Given the description of an element on the screen output the (x, y) to click on. 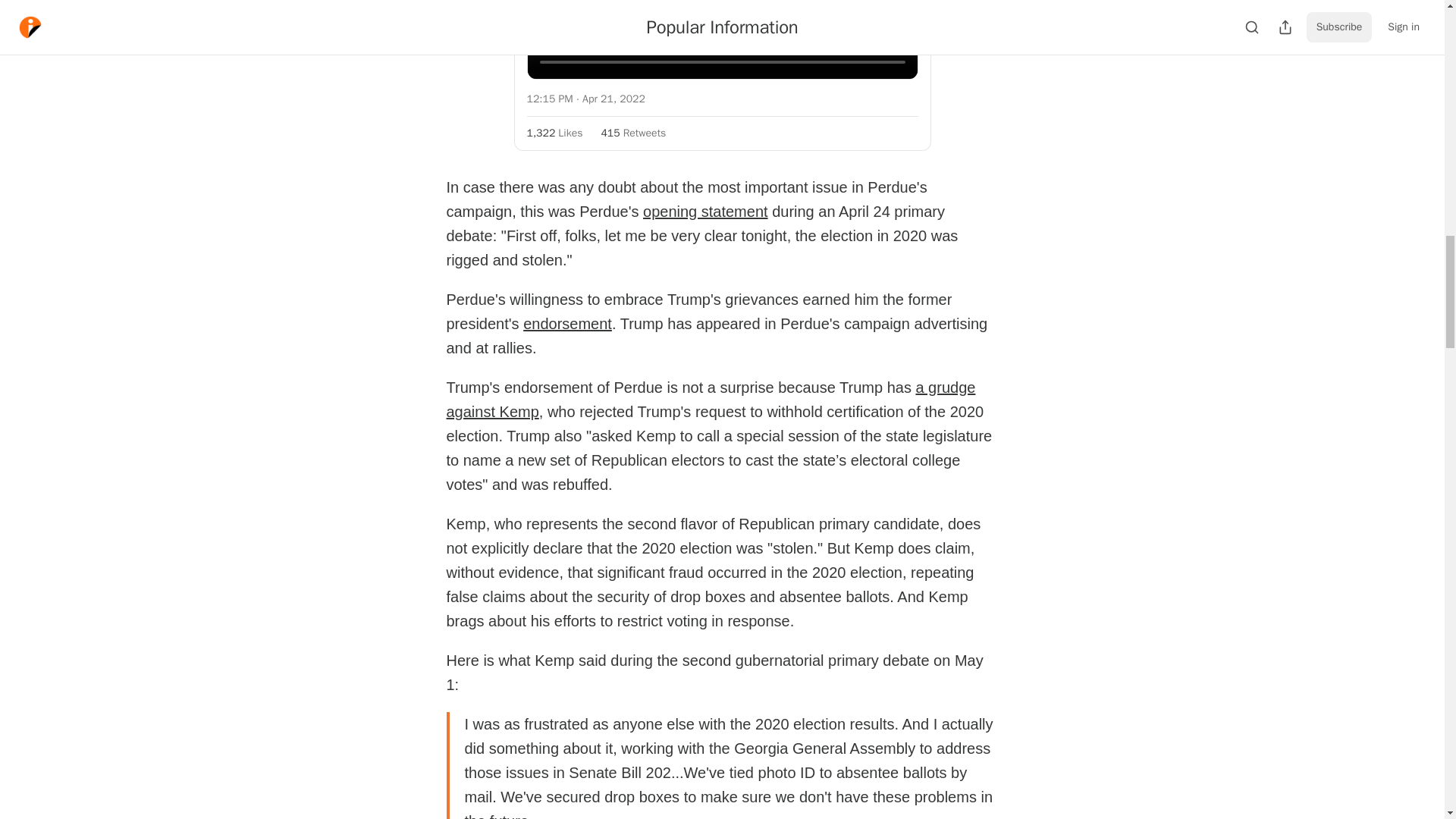
endorsement (566, 323)
a grudge against Kemp (710, 399)
opening statement (705, 211)
